Given the description of an element on the screen output the (x, y) to click on. 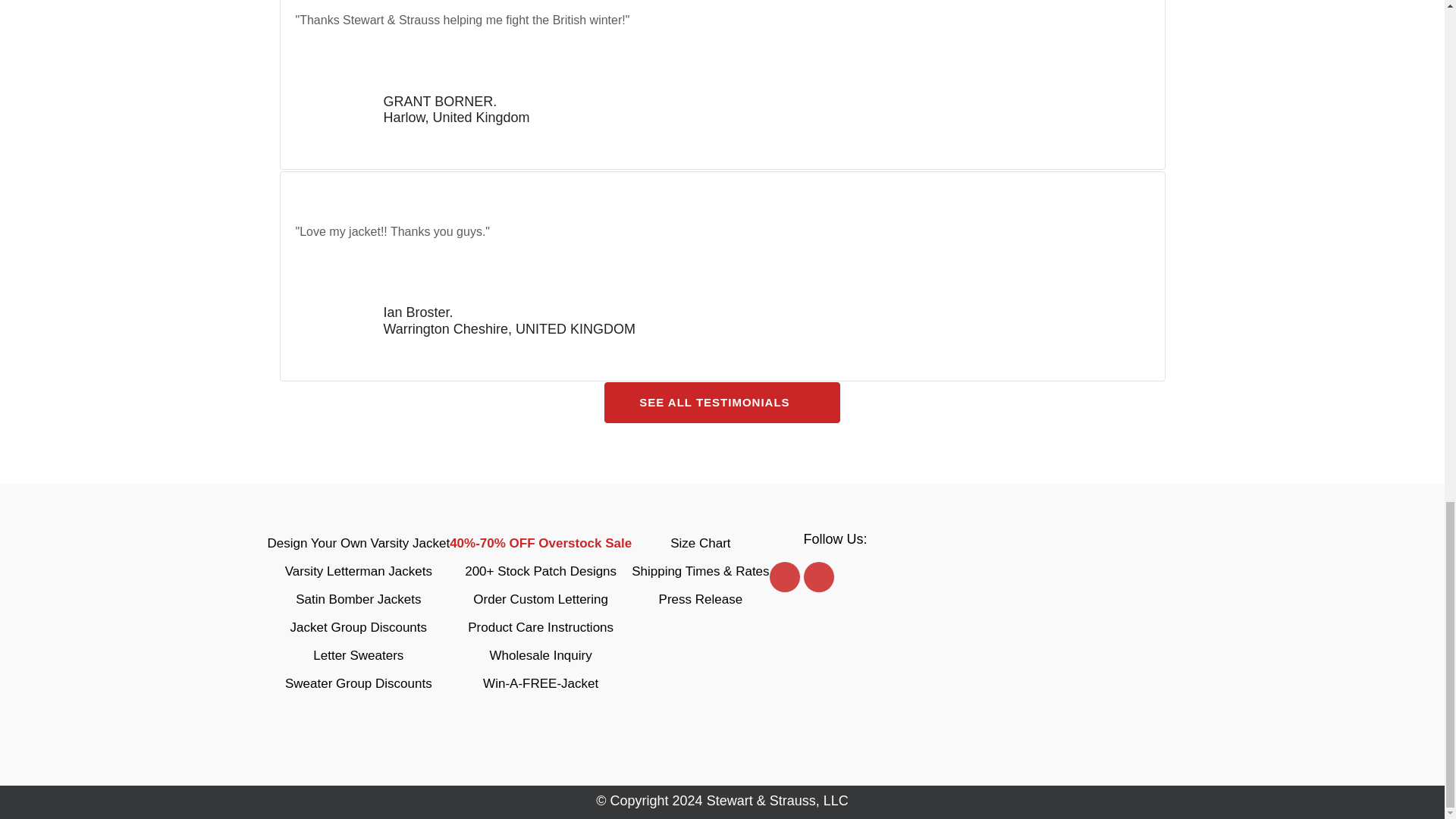
Follow us on Facebook (784, 576)
Follow us on Instagram (818, 576)
